Given the description of an element on the screen output the (x, y) to click on. 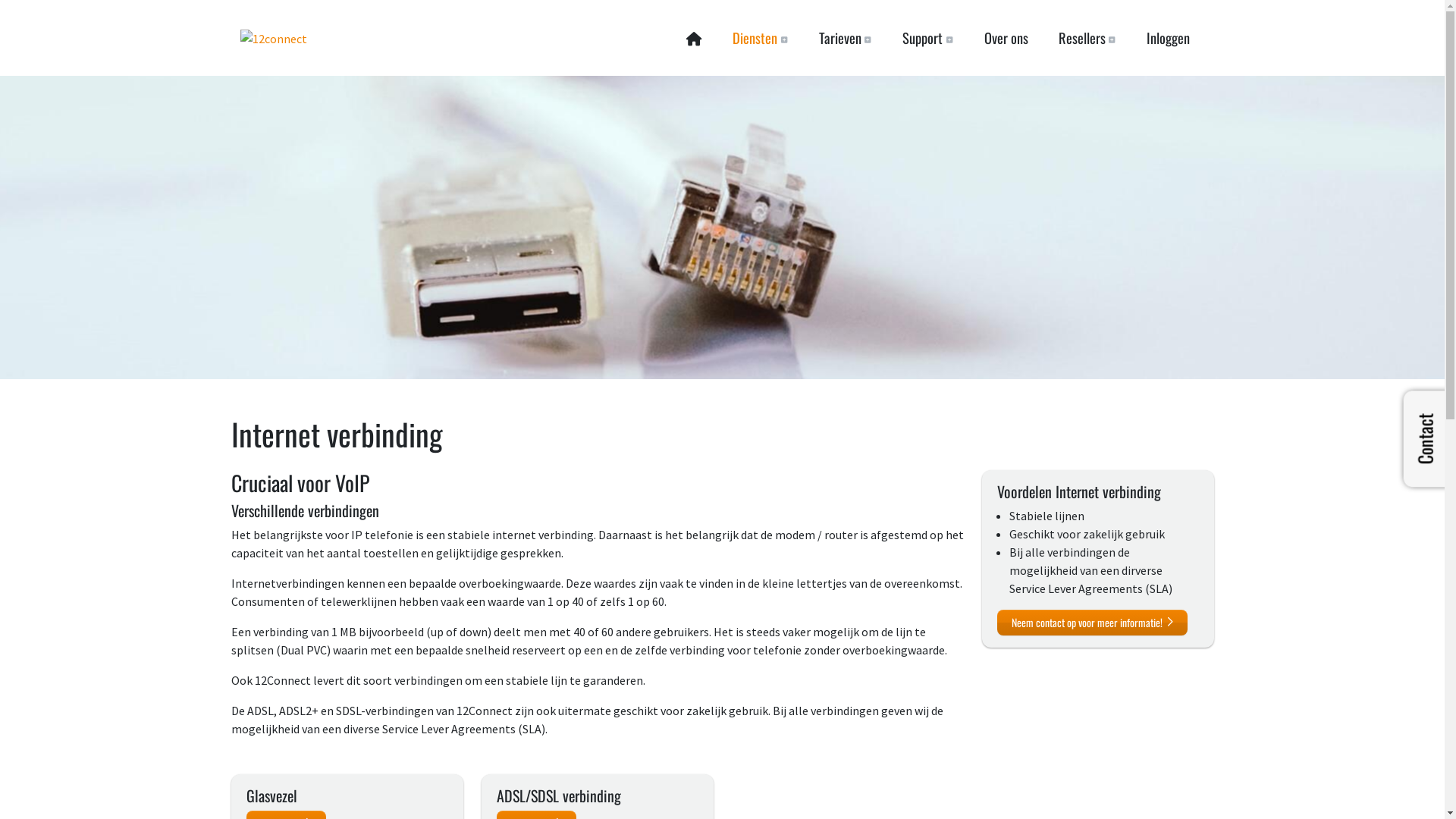
Resellers Element type: text (1086, 37)
Naar de website Element type: hover (272, 37)
Diensten Element type: text (760, 37)
Tarieven Element type: text (844, 37)
Inloggen Element type: text (1167, 37)
Home Element type: hover (694, 37)
Support Element type: text (927, 37)
Neem contact op voor meer informatie! Element type: text (1091, 622)
Over ons Element type: text (1005, 37)
